Given the description of an element on the screen output the (x, y) to click on. 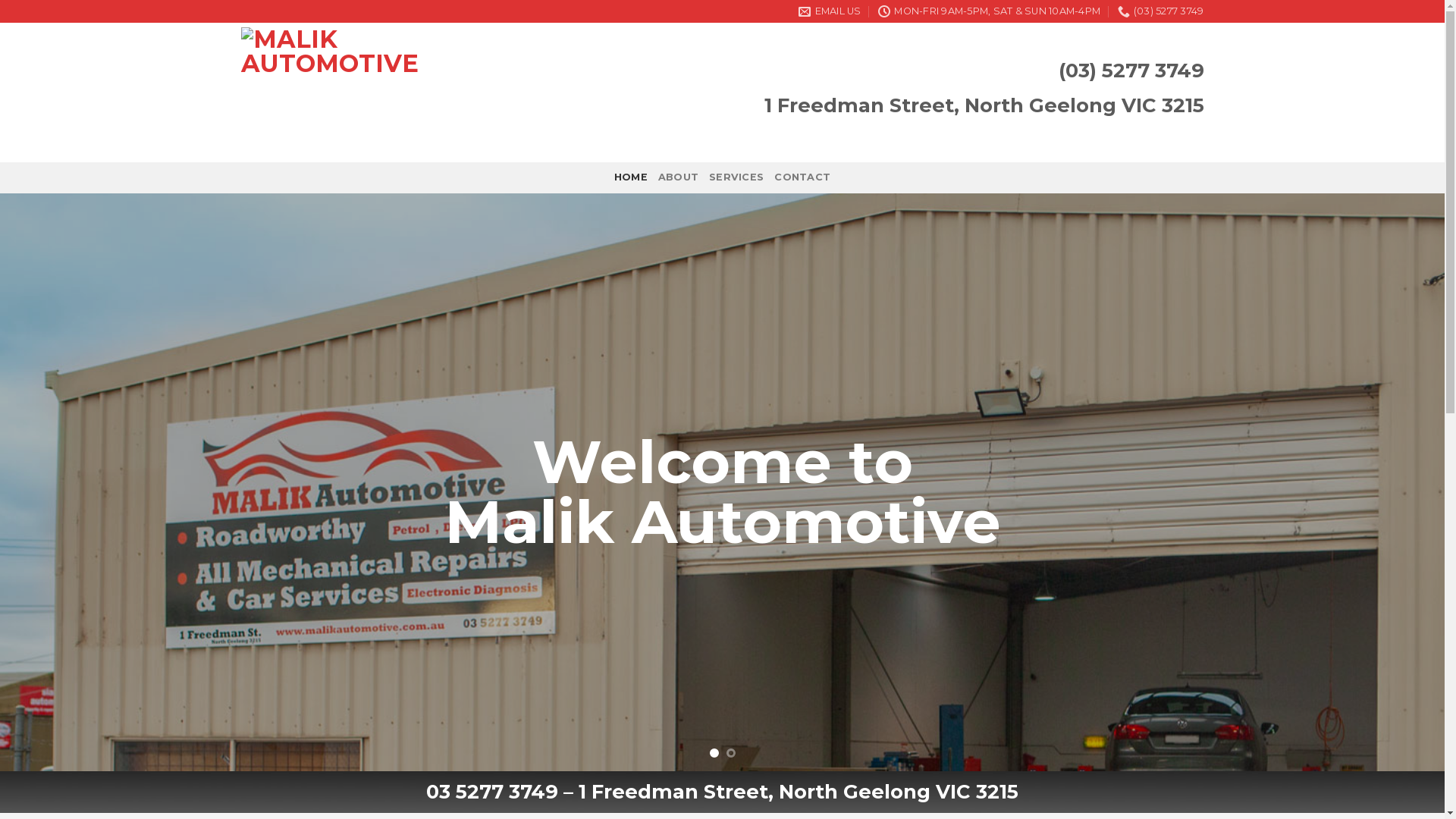
HOME Element type: text (630, 177)
1 Freedman Street, North Geelong VIC 3215 Element type: text (984, 104)
EMAIL US Element type: text (829, 11)
Malik Automotive Element type: hover (374, 92)
ABOUT Element type: text (678, 177)
(03) 5277 3749 Element type: text (1131, 69)
CONTACT Element type: text (802, 177)
MON-FRI 9AM-5PM, SAT & SUN 10AM-4PM Element type: text (989, 11)
1 Freedman Street, North Geelong VIC 3215 Element type: text (798, 791)
SERVICES Element type: text (736, 177)
Skip to content Element type: text (0, 0)
(03) 5277 3749 Element type: text (1160, 11)
03 5277 3749 Element type: text (492, 791)
